Given the description of an element on the screen output the (x, y) to click on. 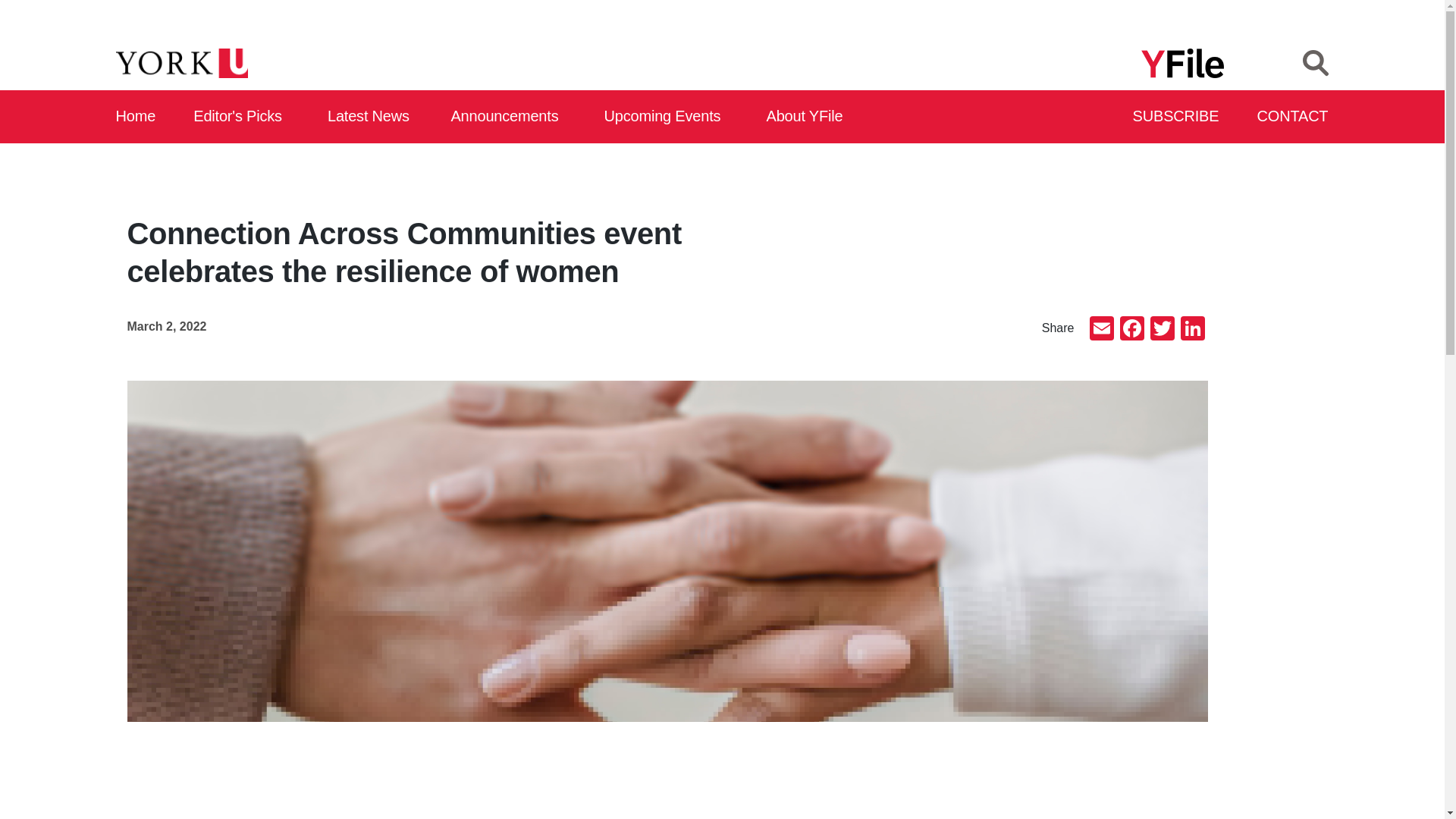
CONTACT (1293, 116)
About YFile (806, 116)
Contact (1293, 116)
LinkedIn (1191, 329)
Twitter (1161, 329)
Latest News (370, 116)
Twitter (1161, 329)
Upcoming Events (667, 116)
Subscribe (1176, 116)
SUBSCRIBE (1176, 116)
LinkedIn (1191, 329)
Editor's Picks (242, 116)
About YFile (806, 116)
Email (1101, 329)
Announcements (508, 116)
